Given the description of an element on the screen output the (x, y) to click on. 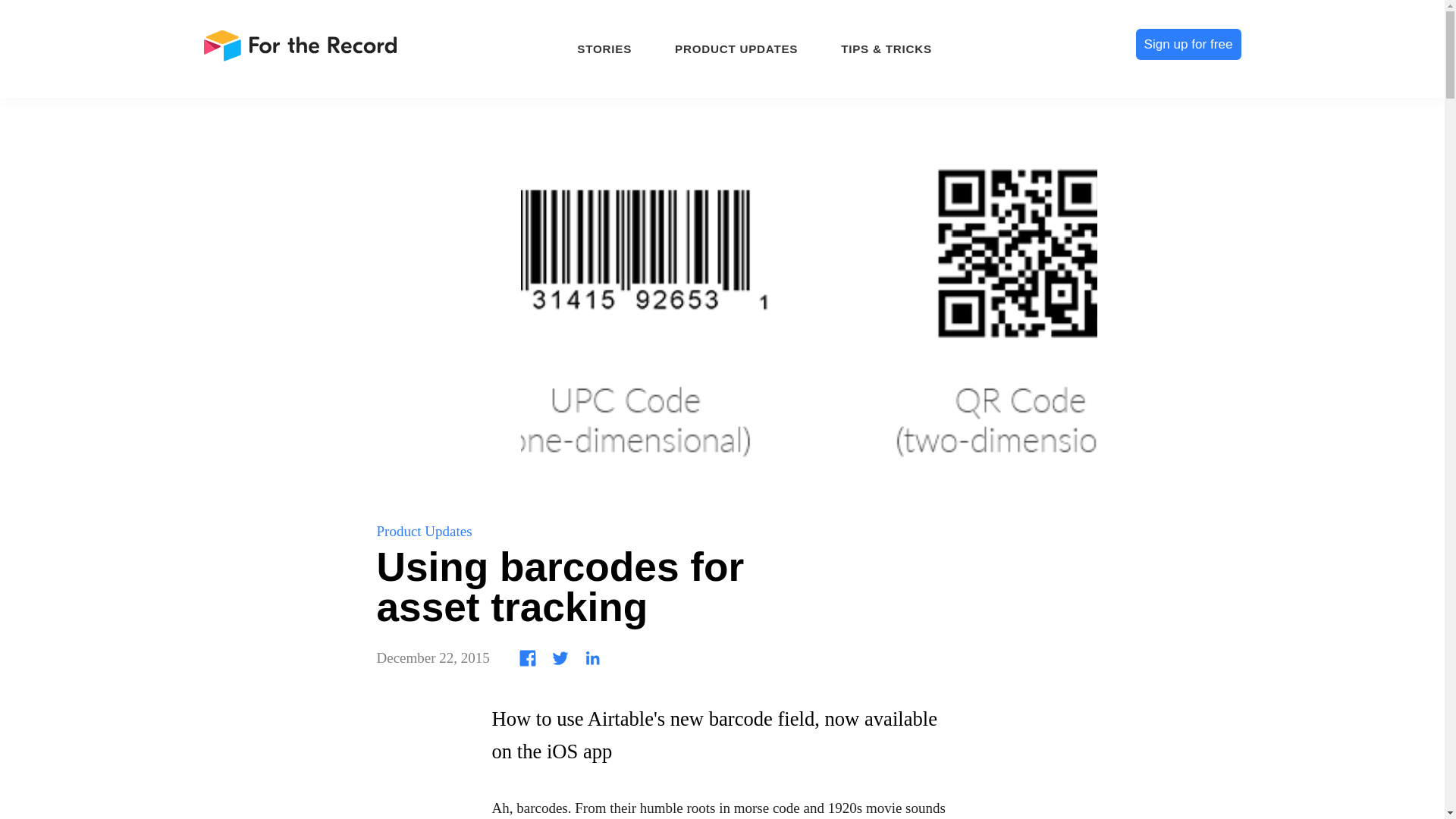
For The Record (302, 48)
Product Updates (423, 530)
Sign up for free (1188, 43)
PRODUCT UPDATES (736, 47)
STORIES (604, 47)
Sign up (117, 760)
